Given the description of an element on the screen output the (x, y) to click on. 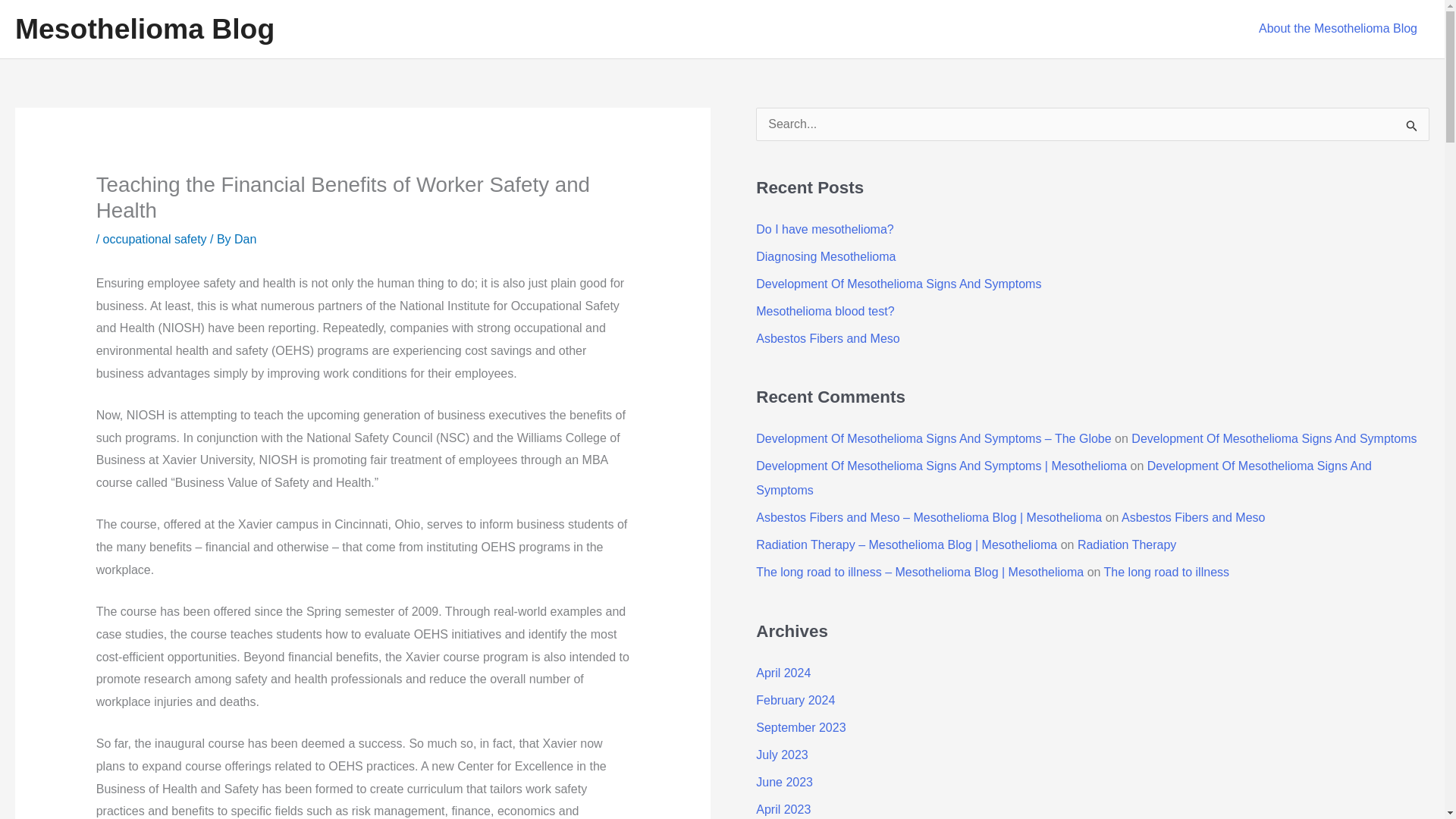
Mesothelioma blood test? (824, 310)
February 2024 (794, 699)
The long road to illness (1165, 571)
Development Of Mesothelioma Signs And Symptoms (1273, 438)
View all posts by Dan (245, 238)
Asbestos Fibers and Meso (1193, 517)
Asbestos Fibers and Meso (827, 338)
July 2023 (781, 754)
June 2023 (783, 781)
Dan (245, 238)
September 2023 (800, 727)
Radiation Therapy (1126, 544)
Development Of Mesothelioma Signs And Symptoms (898, 283)
Diagnosing Mesothelioma (825, 256)
Do I have mesothelioma? (824, 228)
